Given the description of an element on the screen output the (x, y) to click on. 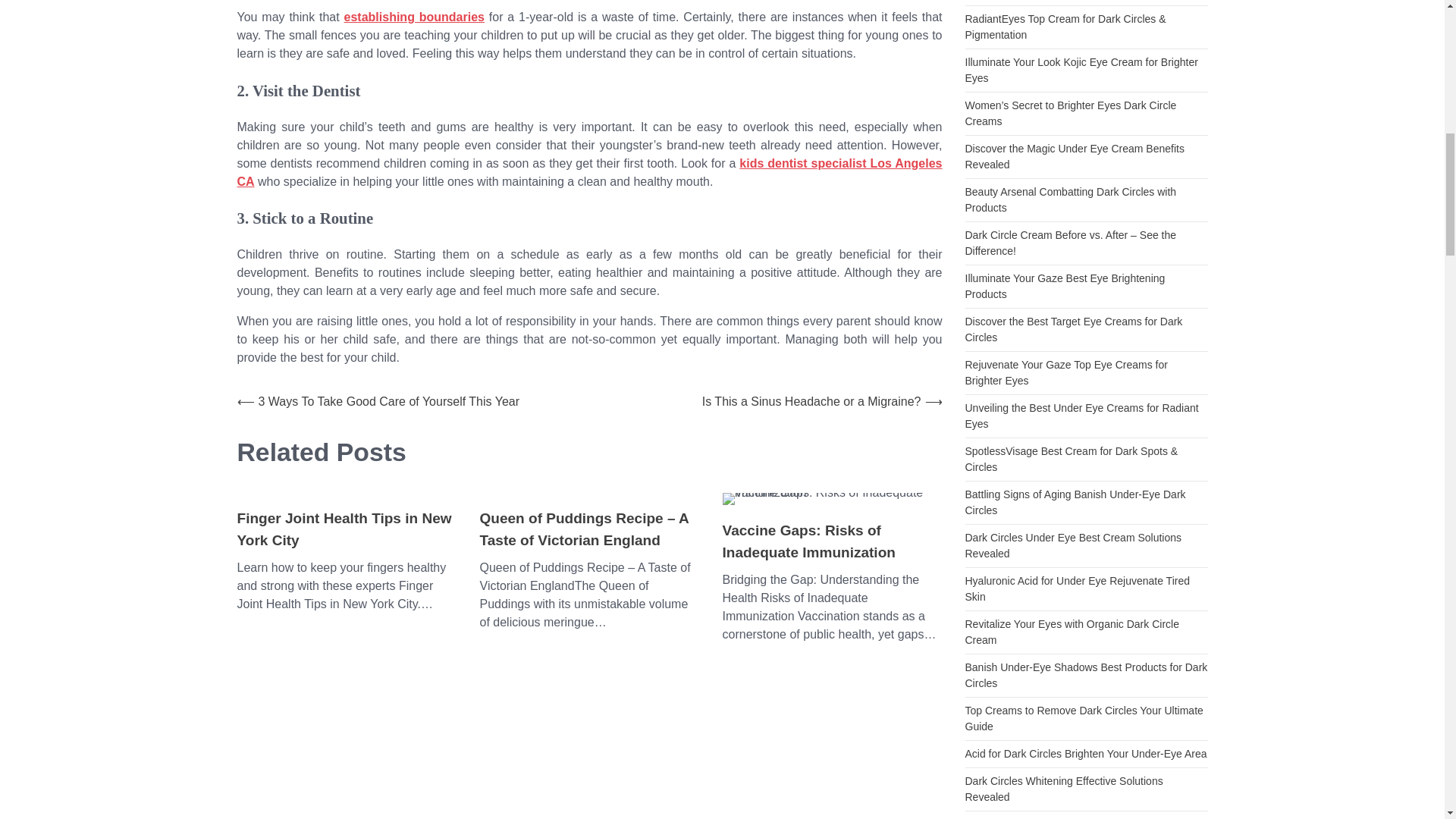
Finger Joint Health Tips in New York City (346, 529)
establishing boundaries (413, 16)
kids dentist specialist Los Angeles CA (588, 172)
Vaccine Gaps: Risks of Inadequate Immunization (832, 499)
Vaccine Gaps: Risks of Inadequate Immunization (832, 541)
